Given the description of an element on the screen output the (x, y) to click on. 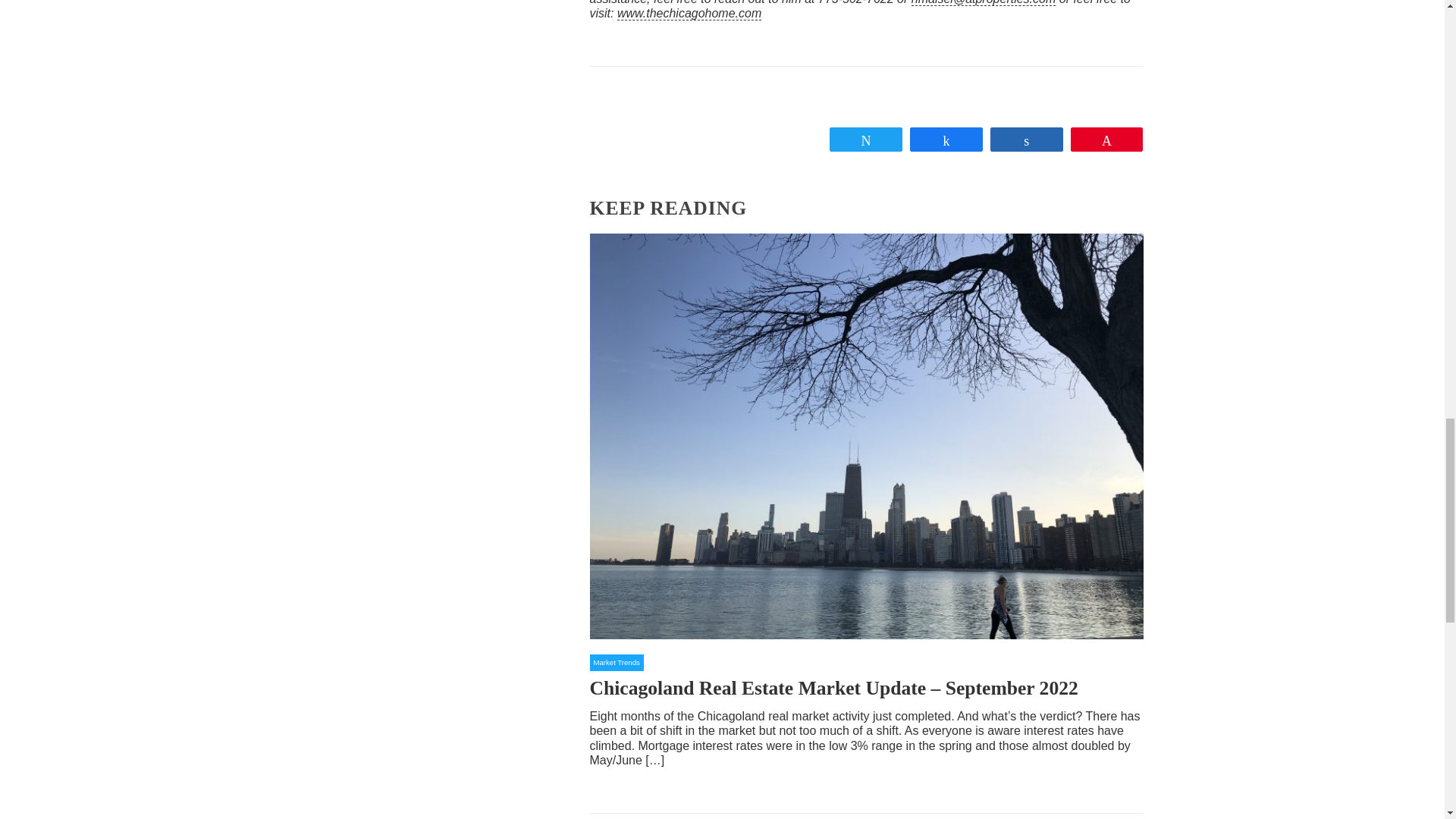
www.thechicagohome.com (689, 13)
Market Trends (616, 662)
